Given the description of an element on the screen output the (x, y) to click on. 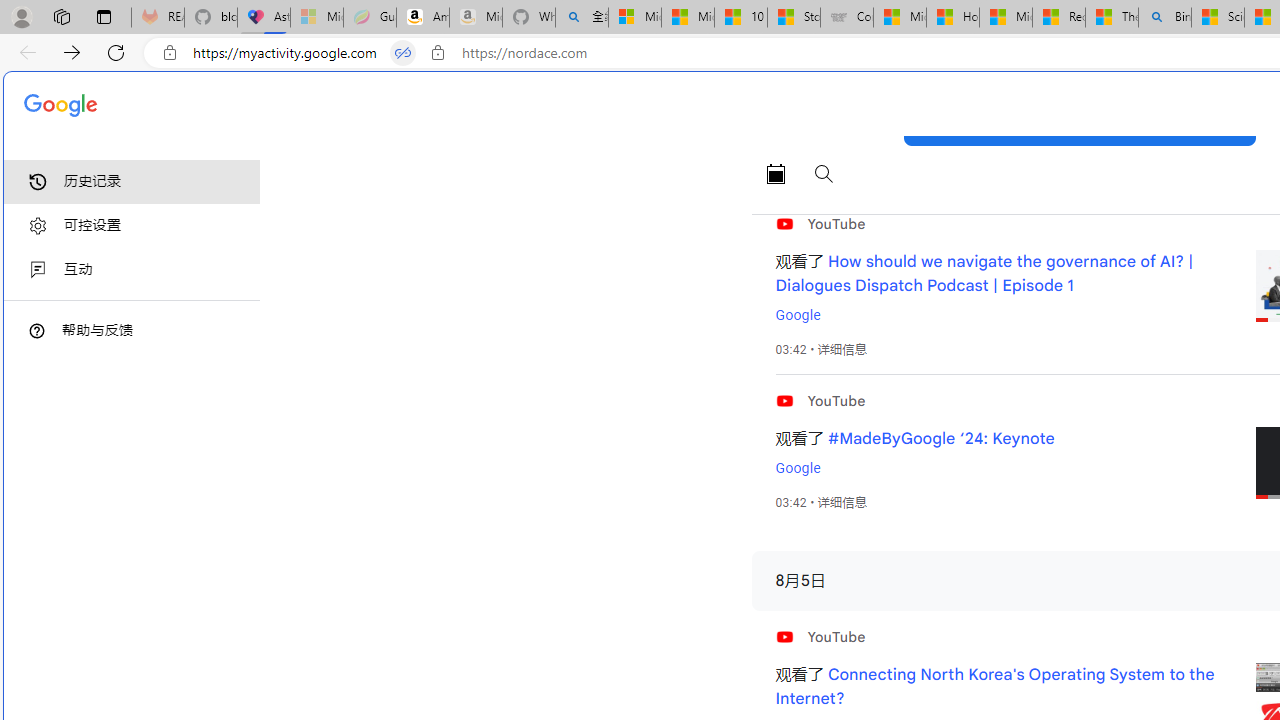
Tabs in split screen (403, 53)
